Given the description of an element on the screen output the (x, y) to click on. 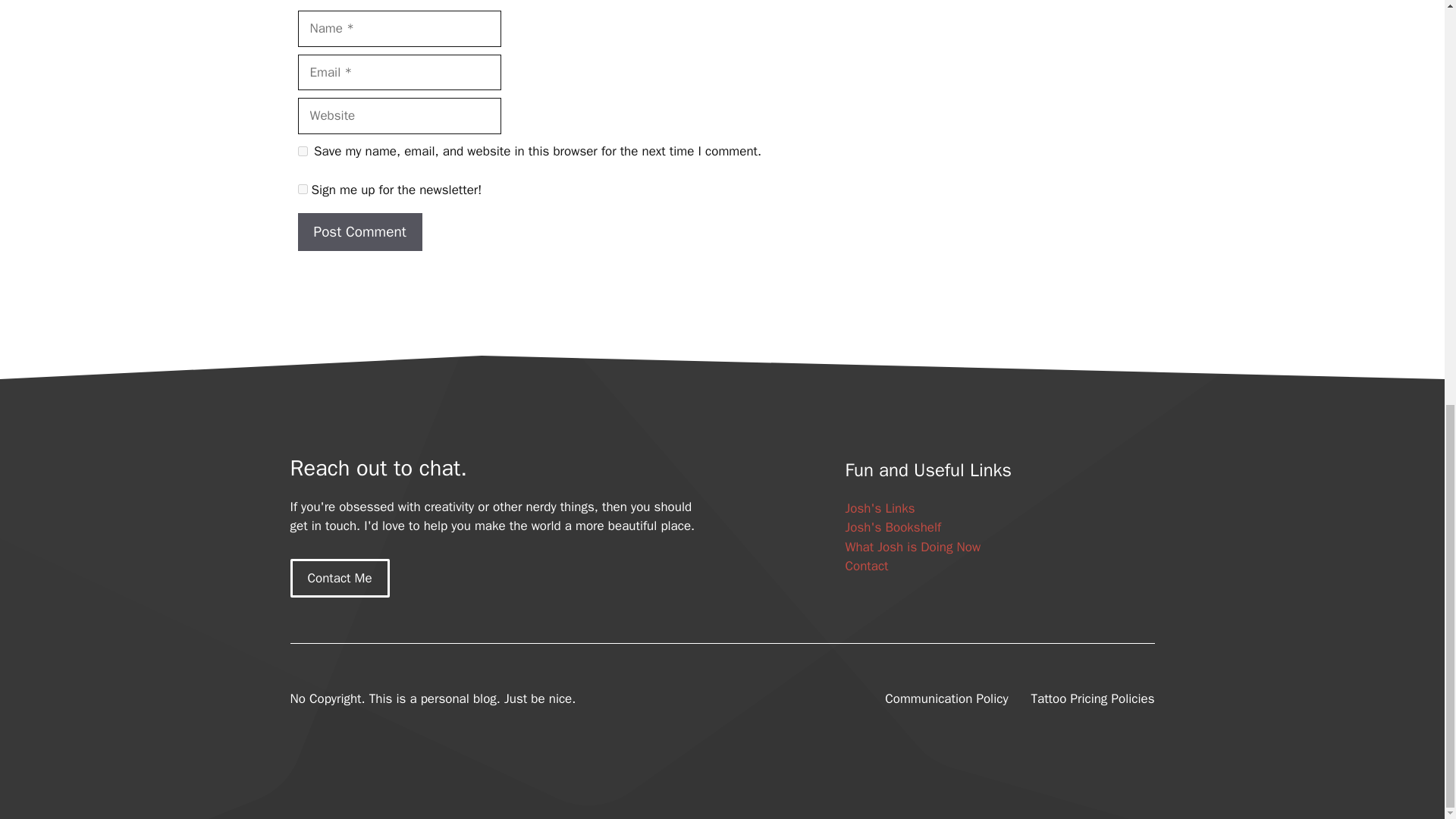
1 (302, 189)
Tattoo Pricing Policies (1092, 699)
Contact (866, 565)
Post Comment (359, 231)
Contact Me (338, 578)
What Josh is Doing Now (911, 546)
Josh's Links (879, 508)
yes (302, 151)
Post Comment (359, 231)
Communication Policy (946, 699)
Josh's Bookshelf (892, 527)
